Given the description of an element on the screen output the (x, y) to click on. 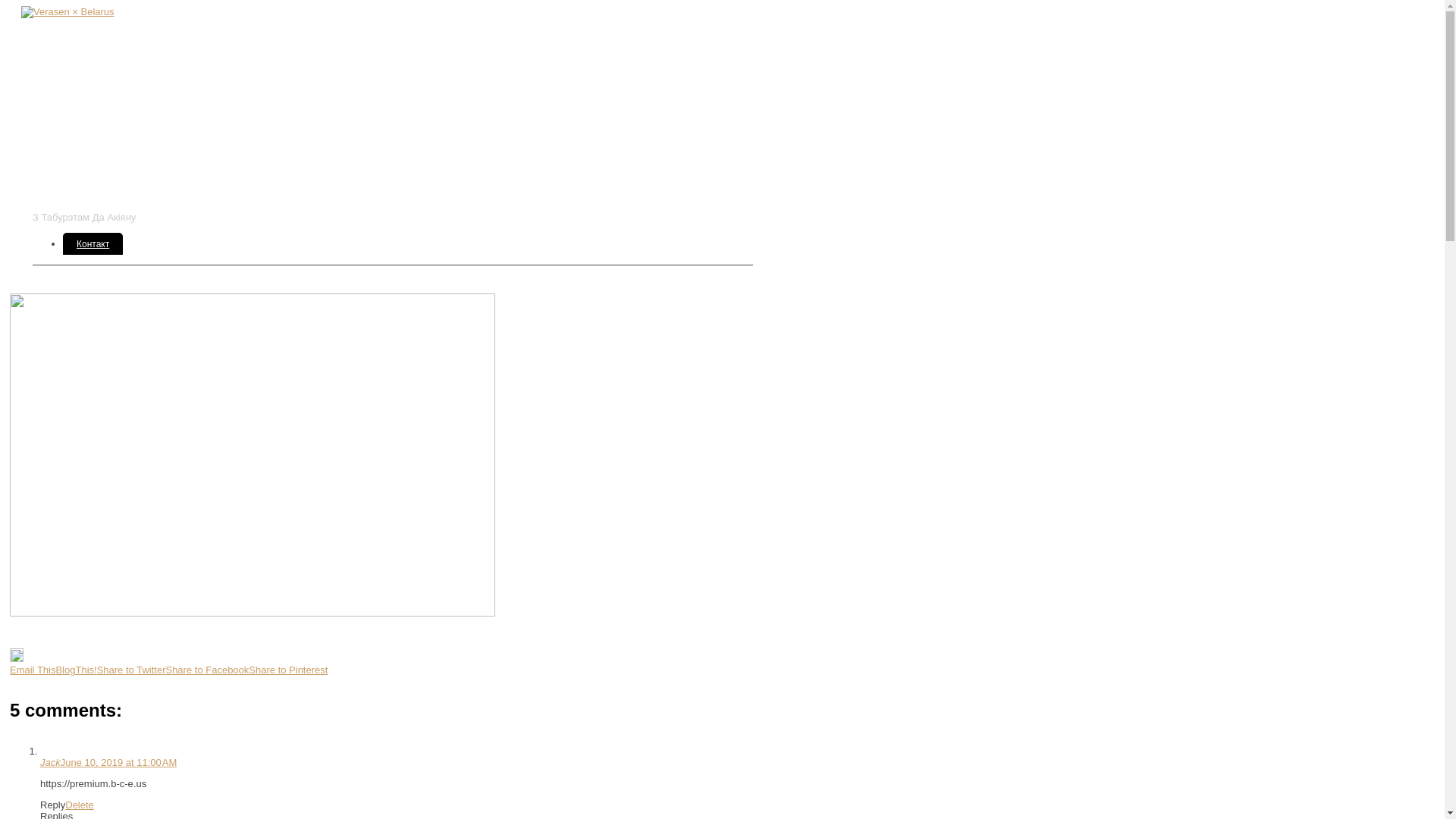
Share to Facebook Element type: text (206, 669)
Reply Element type: text (52, 804)
Share to Pinterest Element type: text (287, 669)
BlogThis! Element type: text (75, 669)
Edit Post Element type: hover (16, 658)
Jack Element type: text (50, 762)
Delete Element type: text (79, 804)
Share to Twitter Element type: text (131, 669)
Email This Element type: text (32, 669)
